Given the description of an element on the screen output the (x, y) to click on. 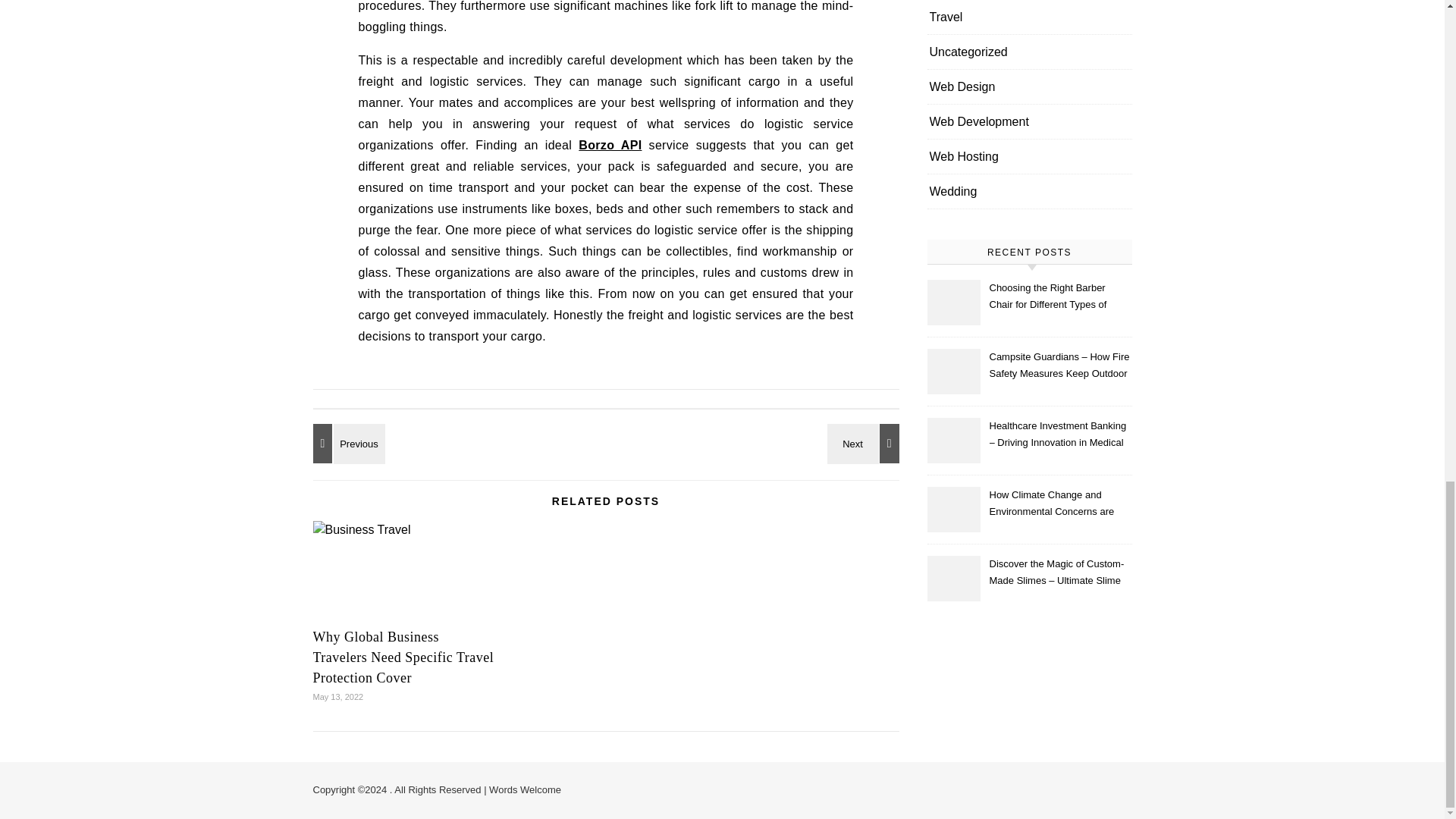
Borzo API (610, 144)
